Given the description of an element on the screen output the (x, y) to click on. 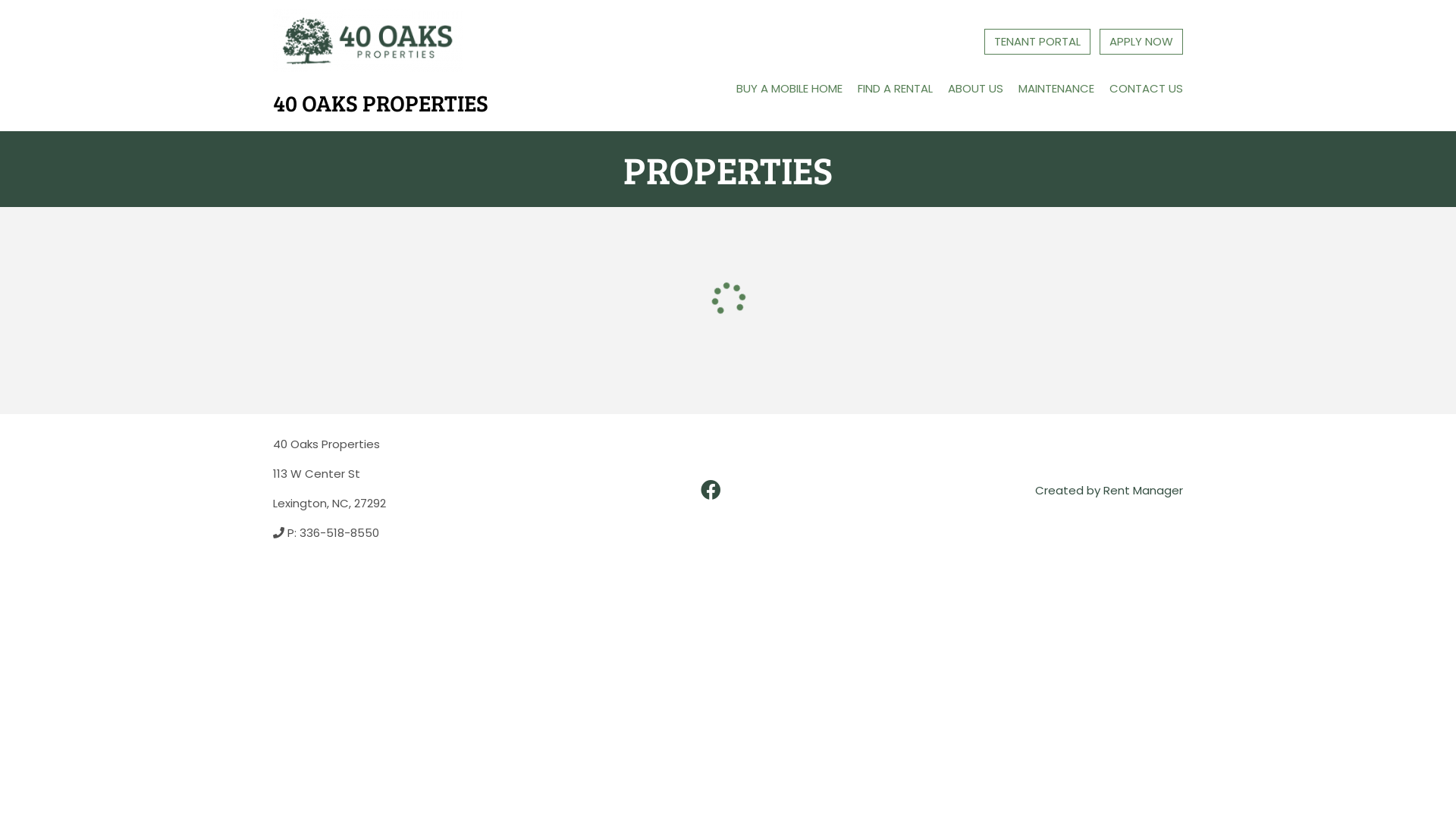
APPLY NOW Element type: text (1141, 41)
BUY A MOBILE HOME Element type: text (789, 89)
facebook Element type: hover (710, 490)
FIND A RENTAL Element type: text (894, 89)
40 OAKS PROPERTIES Element type: text (380, 65)
Created by Rent Manager Element type: text (1109, 489)
CONTACT US Element type: text (1146, 89)
MAINTENANCE Element type: text (1056, 89)
TENANT PORTAL Element type: text (1037, 41)
ABOUT US Element type: text (975, 89)
